Given the description of an element on the screen output the (x, y) to click on. 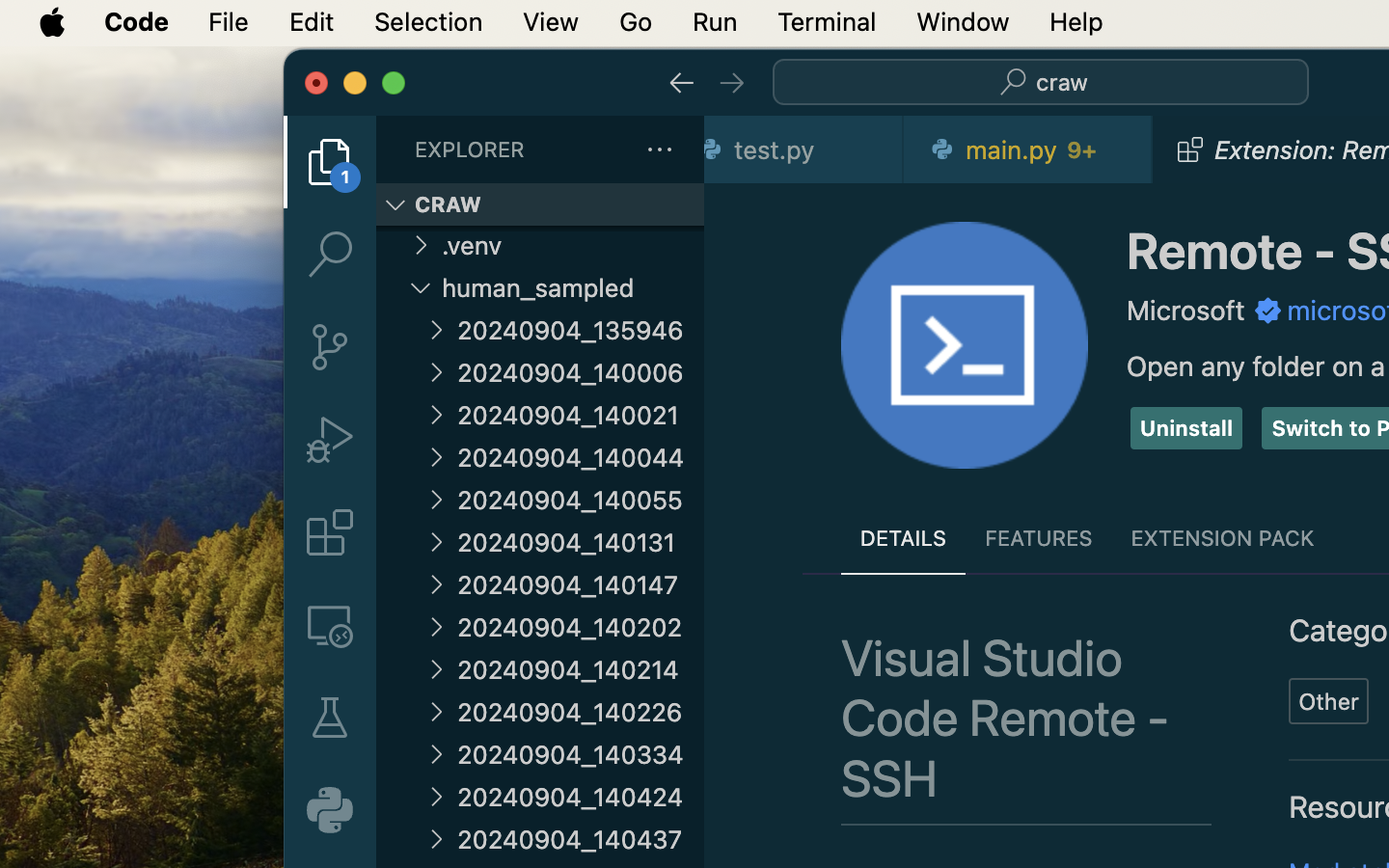
CRAW  Element type: AXButton (540, 204)
.venv Element type: AXGroup (572, 245)
0  Element type: AXRadioButton (329, 717)
human_sampled Element type: AXGroup (572, 287)
20240904_140006 Element type: AXGroup (580, 372)
